Given the description of an element on the screen output the (x, y) to click on. 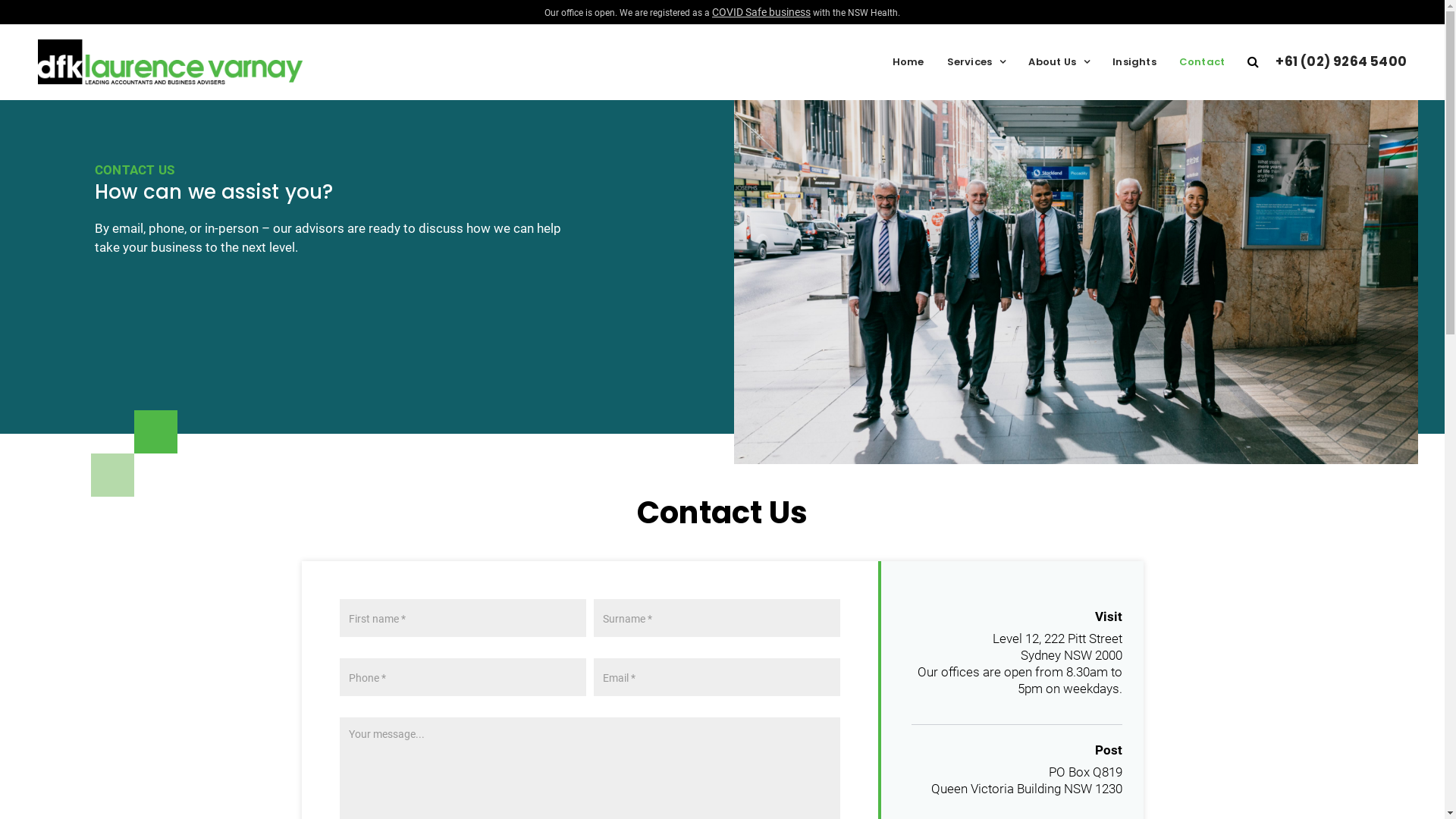
+61 (02) 9264 5400 Element type: text (1340, 62)
Insights Element type: text (1134, 61)
About Us Element type: text (1058, 61)
Contact Element type: text (1201, 61)
Services Element type: text (976, 61)
COVID Safe business Element type: text (761, 12)
Home Element type: text (908, 61)
Search Element type: text (1252, 61)
